Given the description of an element on the screen output the (x, y) to click on. 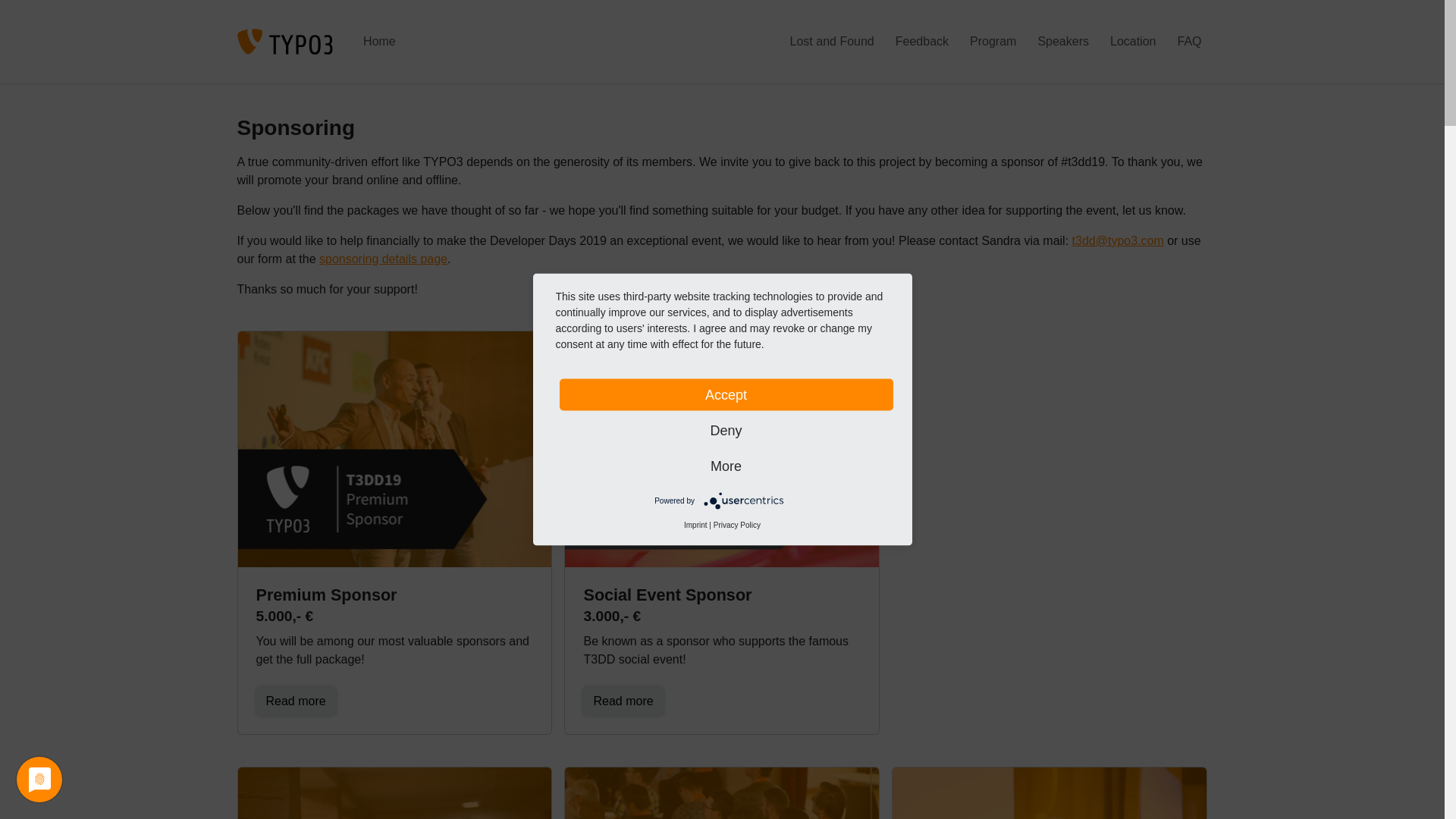
Read more (296, 701)
Read more (622, 701)
Feedback (922, 41)
Read more (296, 701)
Speakers (1062, 41)
Program (992, 41)
Location (1132, 41)
Lost and Found (832, 41)
FAQ (1188, 41)
sponsoring details page (382, 258)
Home (378, 41)
Read more (622, 701)
